Given the description of an element on the screen output the (x, y) to click on. 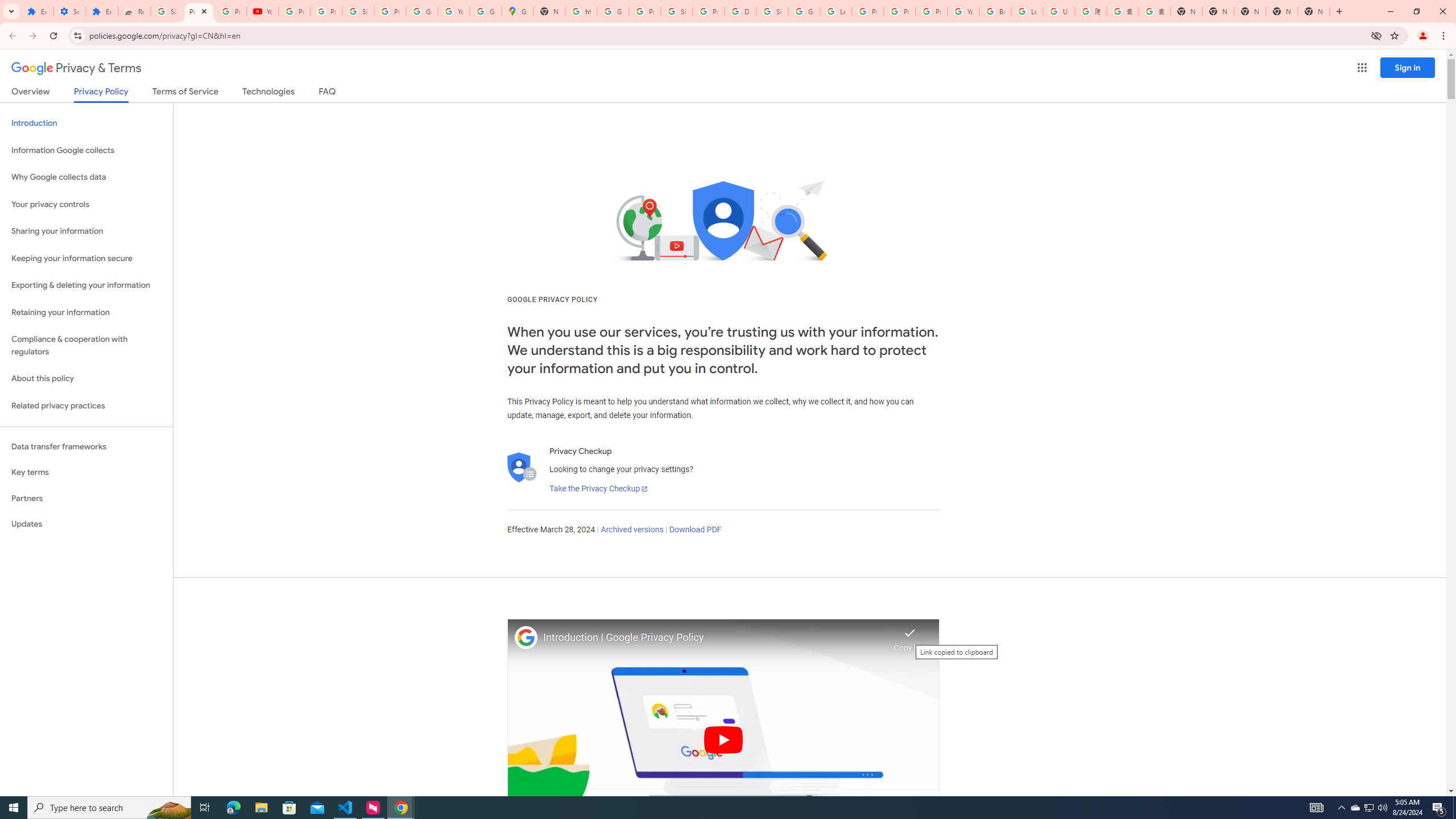
Introduction (86, 122)
Information Google collects (86, 150)
Why Google collects data (86, 176)
Related privacy practices (86, 405)
Delete specific Google services or your Google Account (740, 11)
